Given the description of an element on the screen output the (x, y) to click on. 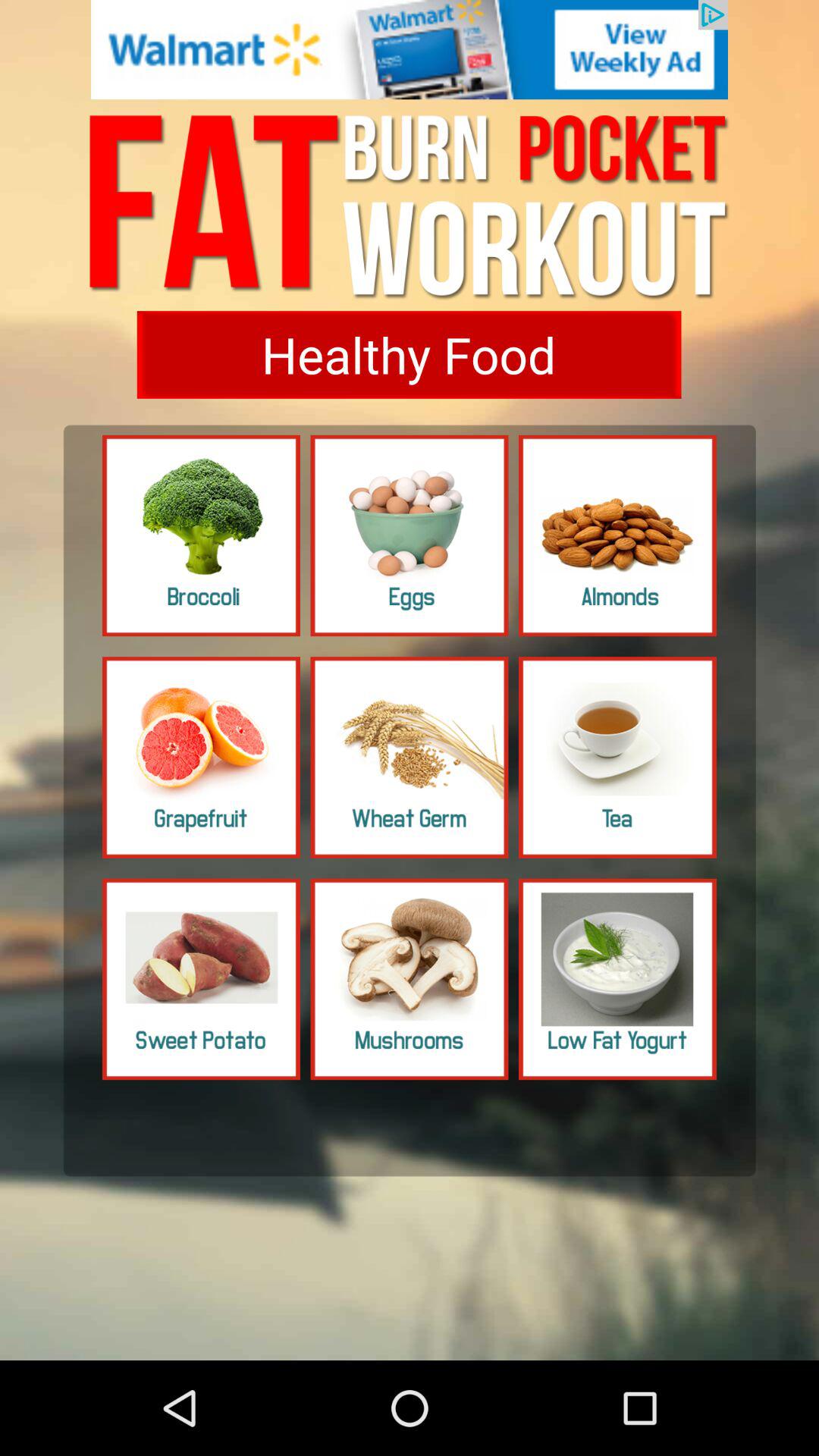
eggs image (409, 535)
